Given the description of an element on the screen output the (x, y) to click on. 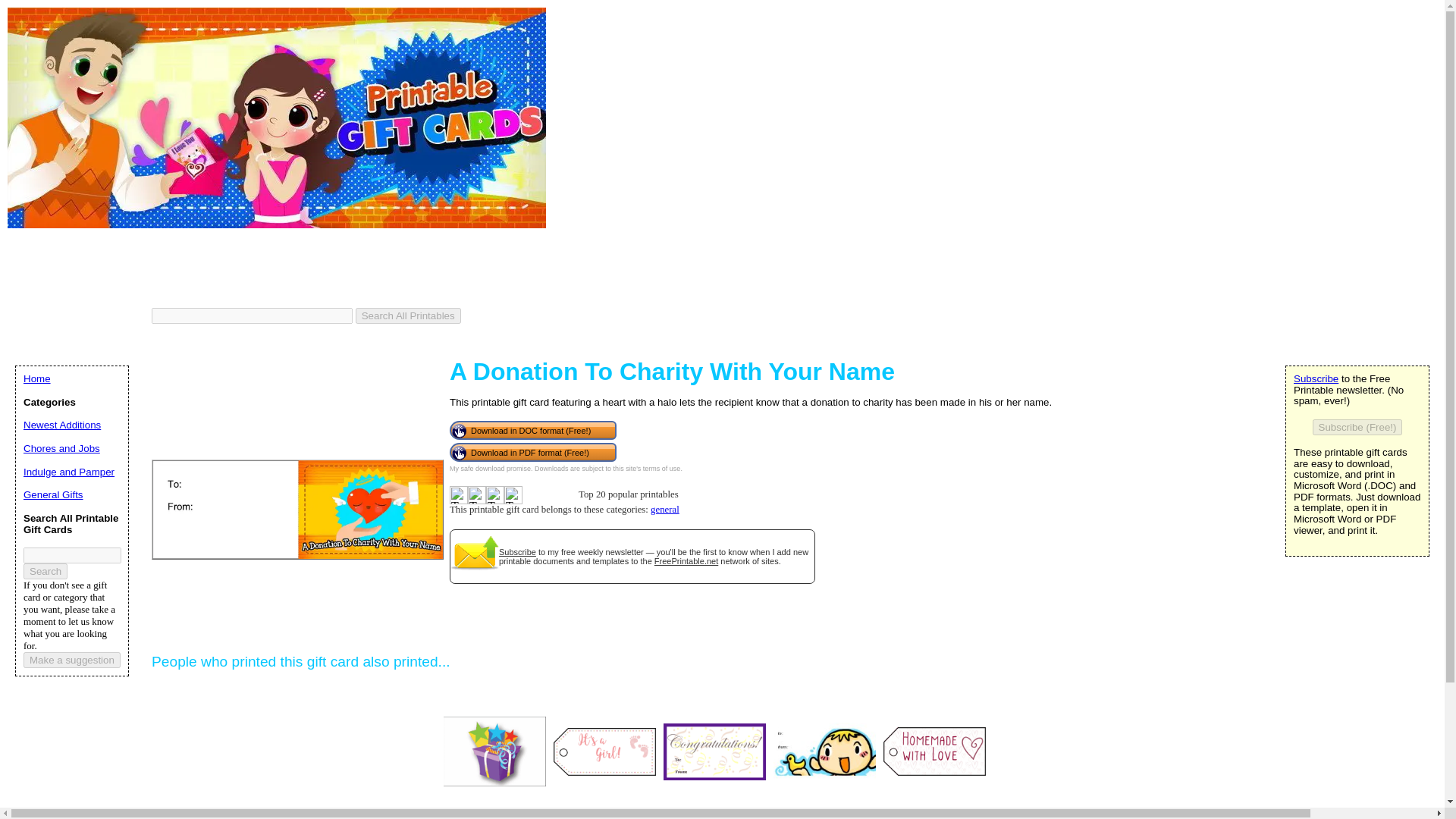
Top 20 popular printables (512, 495)
Search All Printables (408, 315)
FreePrintable.net (685, 560)
Home (36, 378)
general (664, 509)
Advertisement (283, 269)
Subscribe (1316, 378)
Newest Additions (61, 424)
Indulge and Pamper (69, 471)
My safe download promise (490, 468)
